Given the description of an element on the screen output the (x, y) to click on. 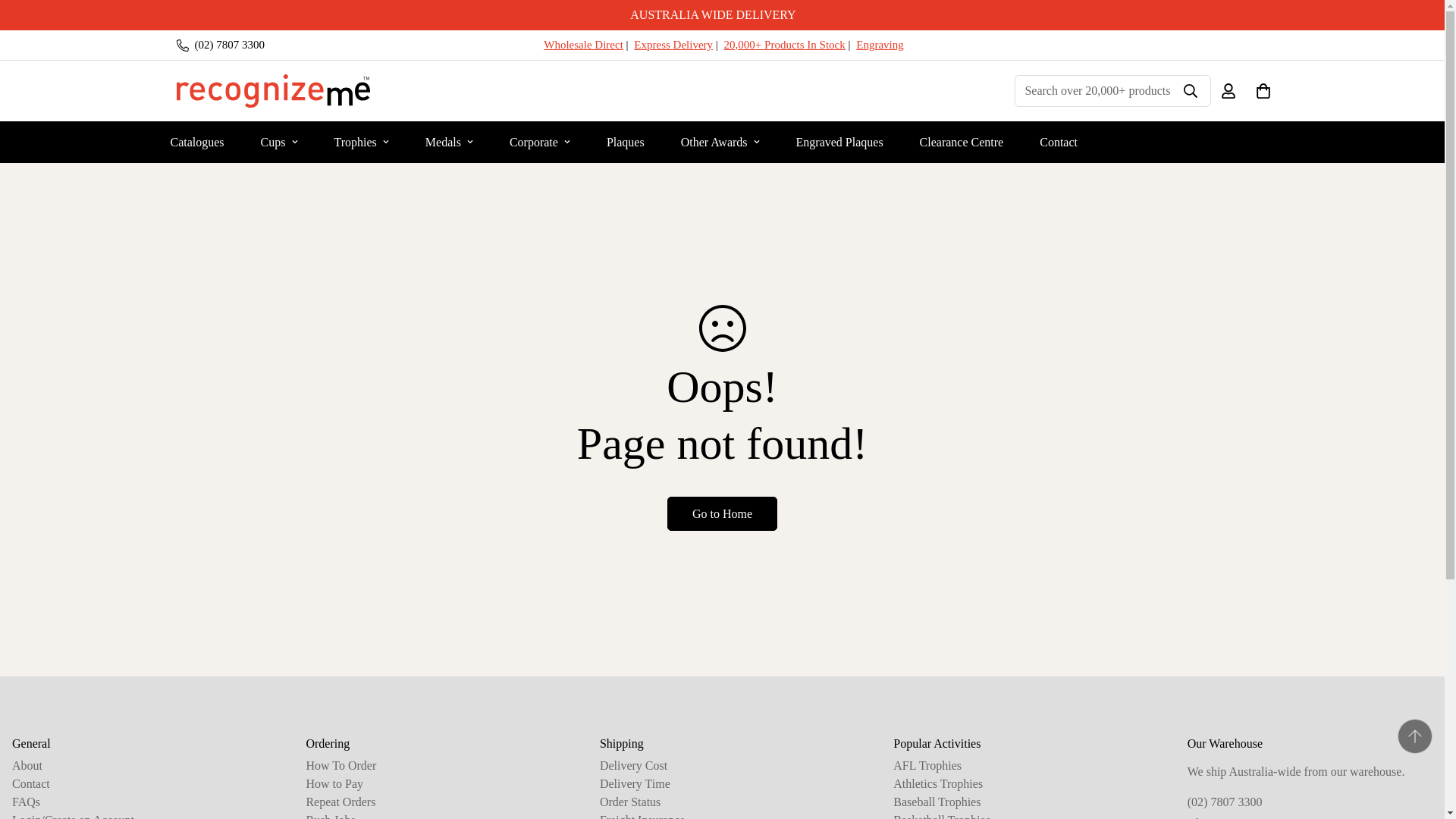
Cups (279, 141)
Express Delivery (673, 44)
AUSTRALIA WIDE DELIVERY (722, 15)
Recognizeme (272, 90)
Engraving (879, 44)
Catalogues (196, 141)
Wholesale Direct (583, 44)
Trophies (360, 141)
